Given the description of an element on the screen output the (x, y) to click on. 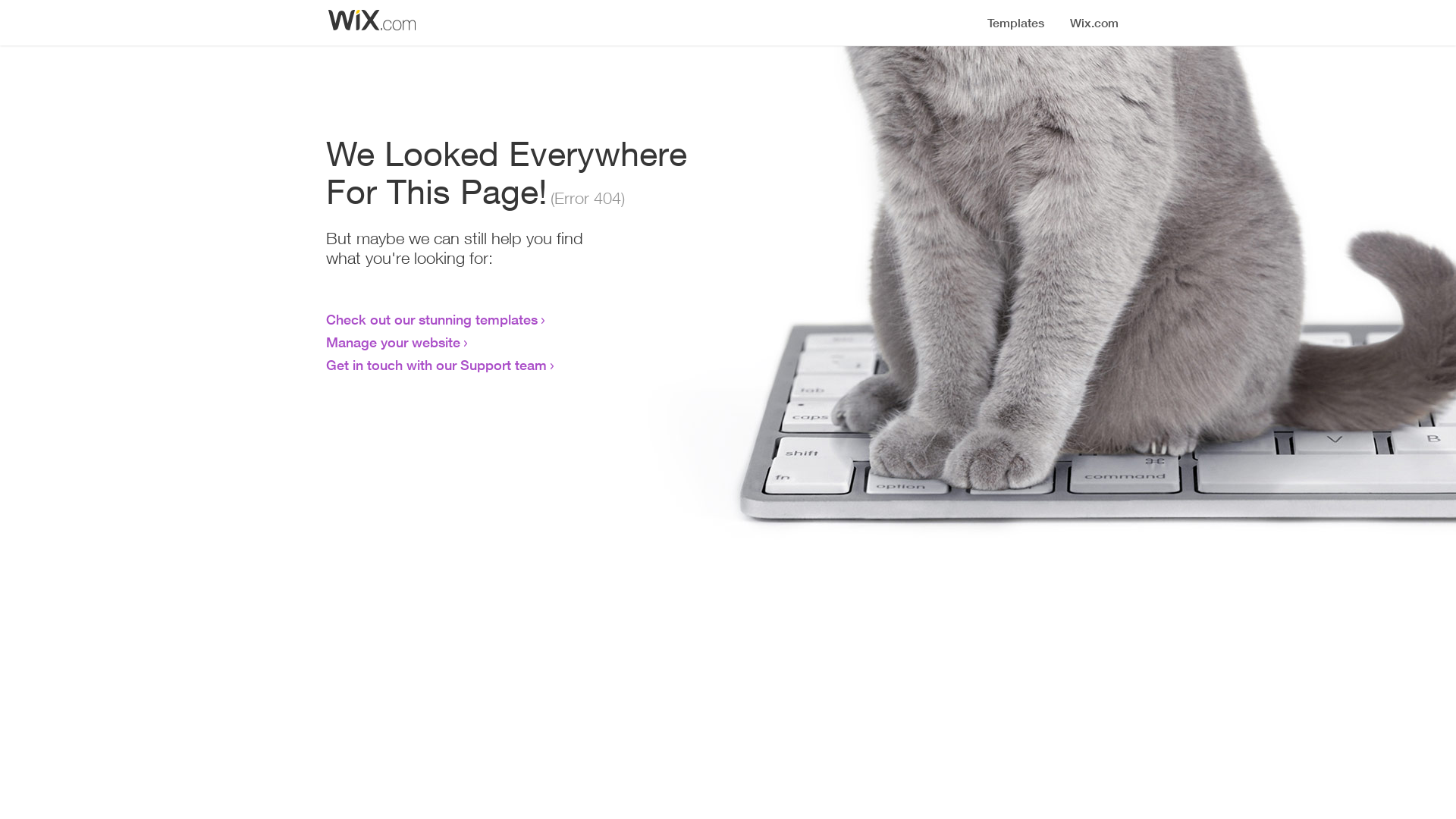
Manage your website Element type: text (393, 341)
Check out our stunning templates Element type: text (431, 318)
Get in touch with our Support team Element type: text (436, 364)
